Given the description of an element on the screen output the (x, y) to click on. 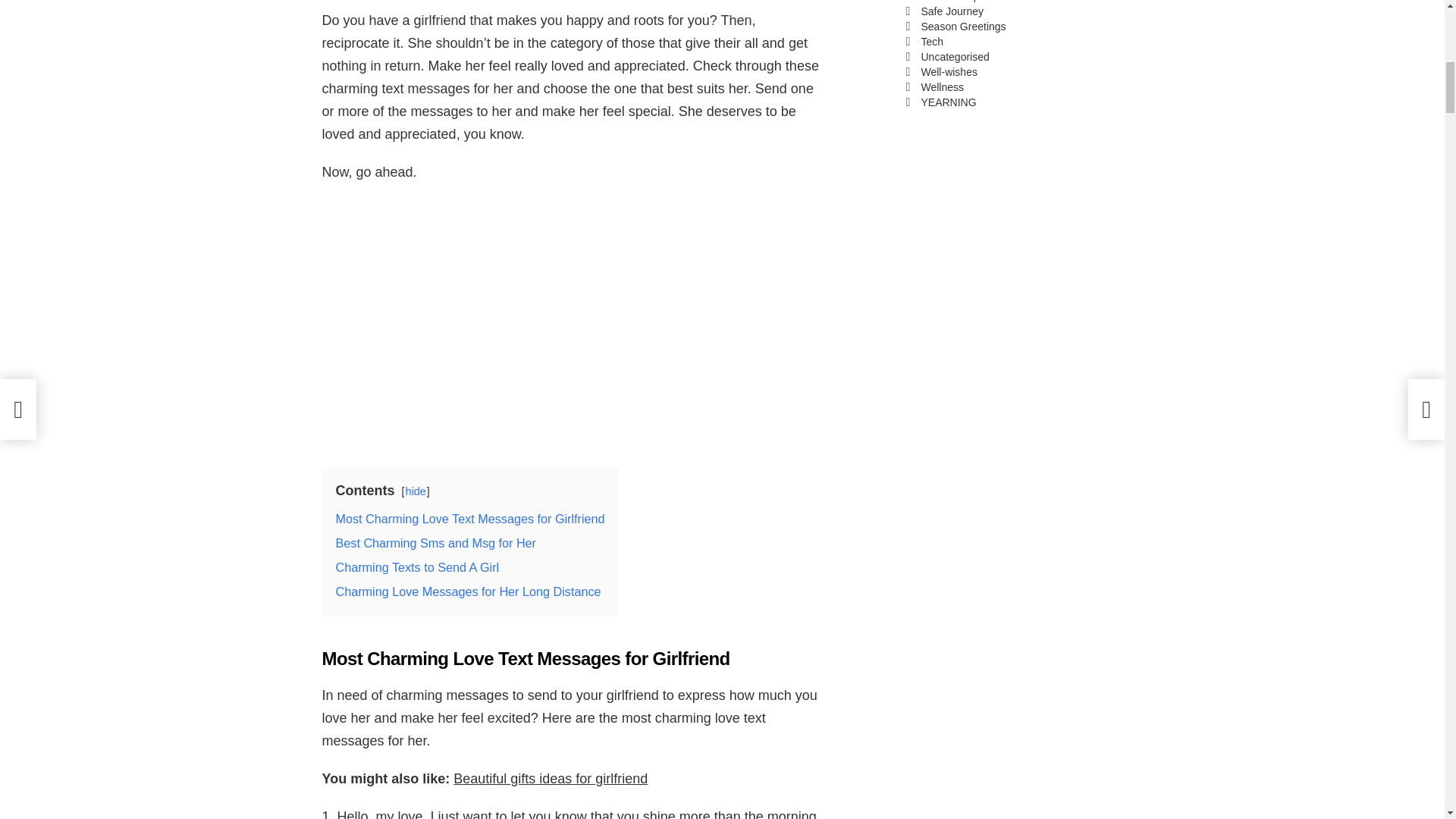
Most Charming Love Text Messages for Girlfriend (469, 518)
Charming Love Messages for Her Long Distance (466, 591)
Charming Texts to Send A Girl (416, 567)
Best Charming Sms and Msg for Her (434, 542)
hide (416, 491)
